Given the description of an element on the screen output the (x, y) to click on. 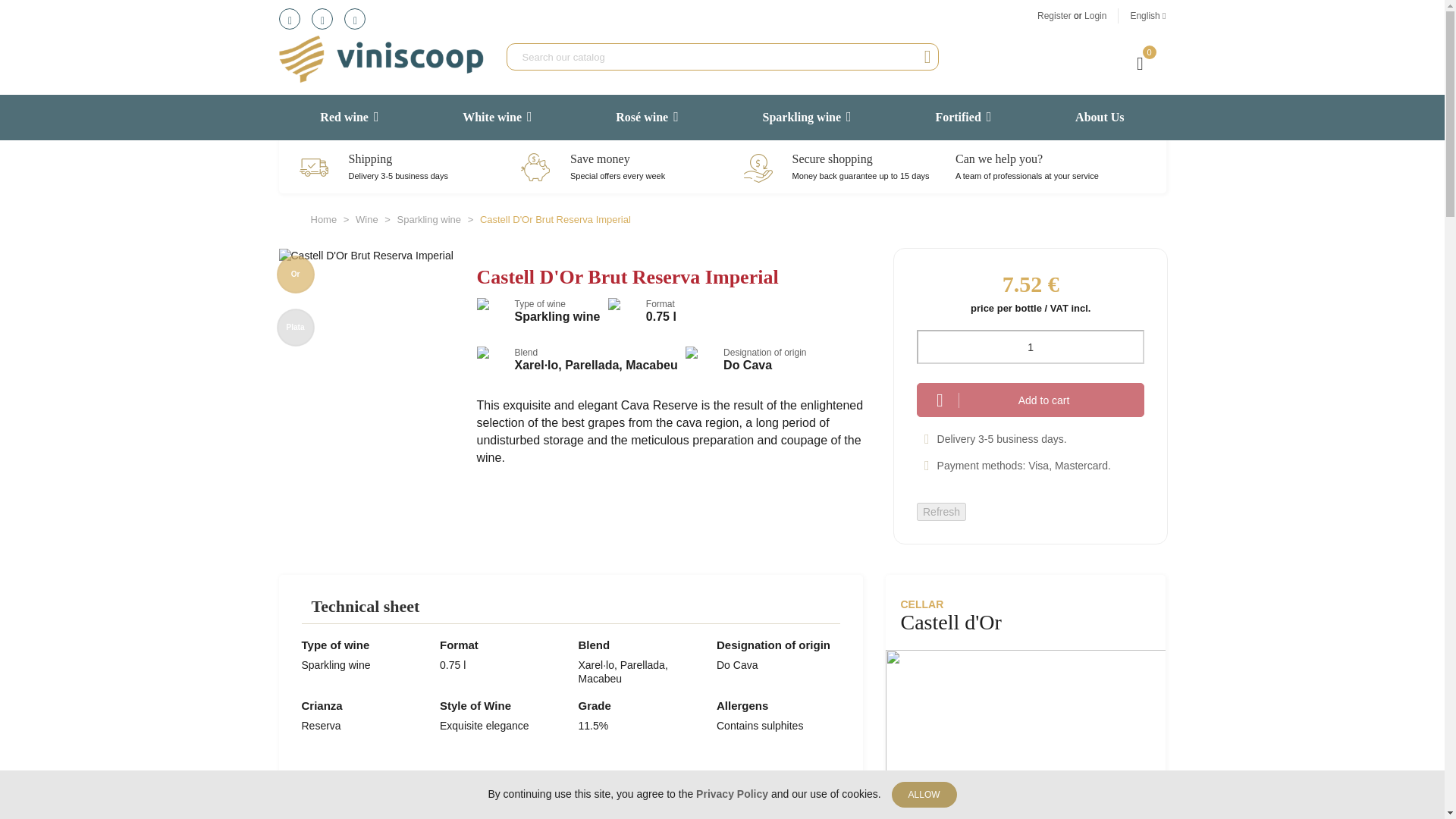
Log in to your customer account (1095, 15)
Refresh (941, 511)
Castell D'Or Brut Reserva Imperial (365, 255)
Register account (1055, 15)
1 (1030, 346)
